Given the description of an element on the screen output the (x, y) to click on. 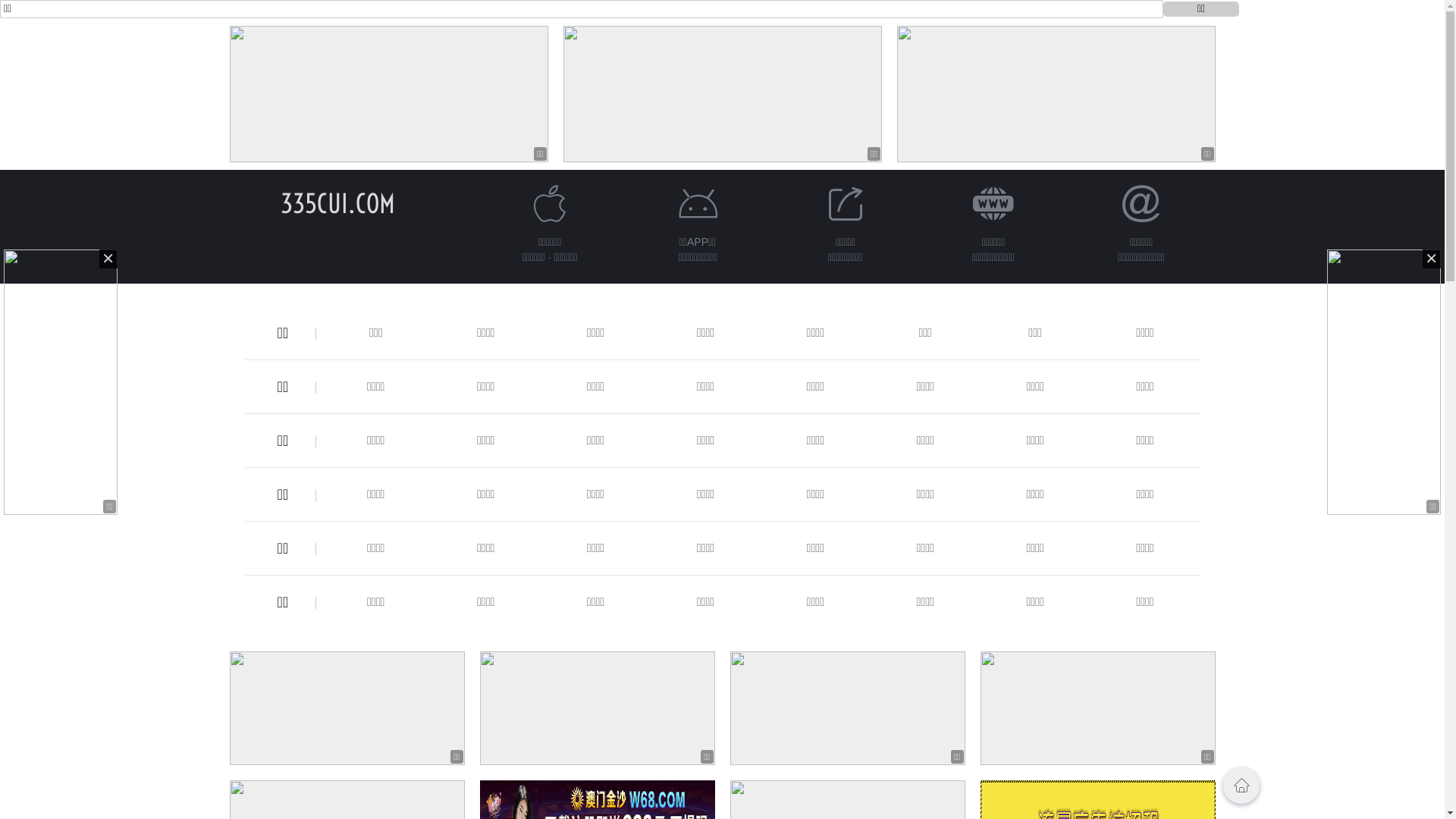
335CUI.COM Element type: text (337, 203)
